Given the description of an element on the screen output the (x, y) to click on. 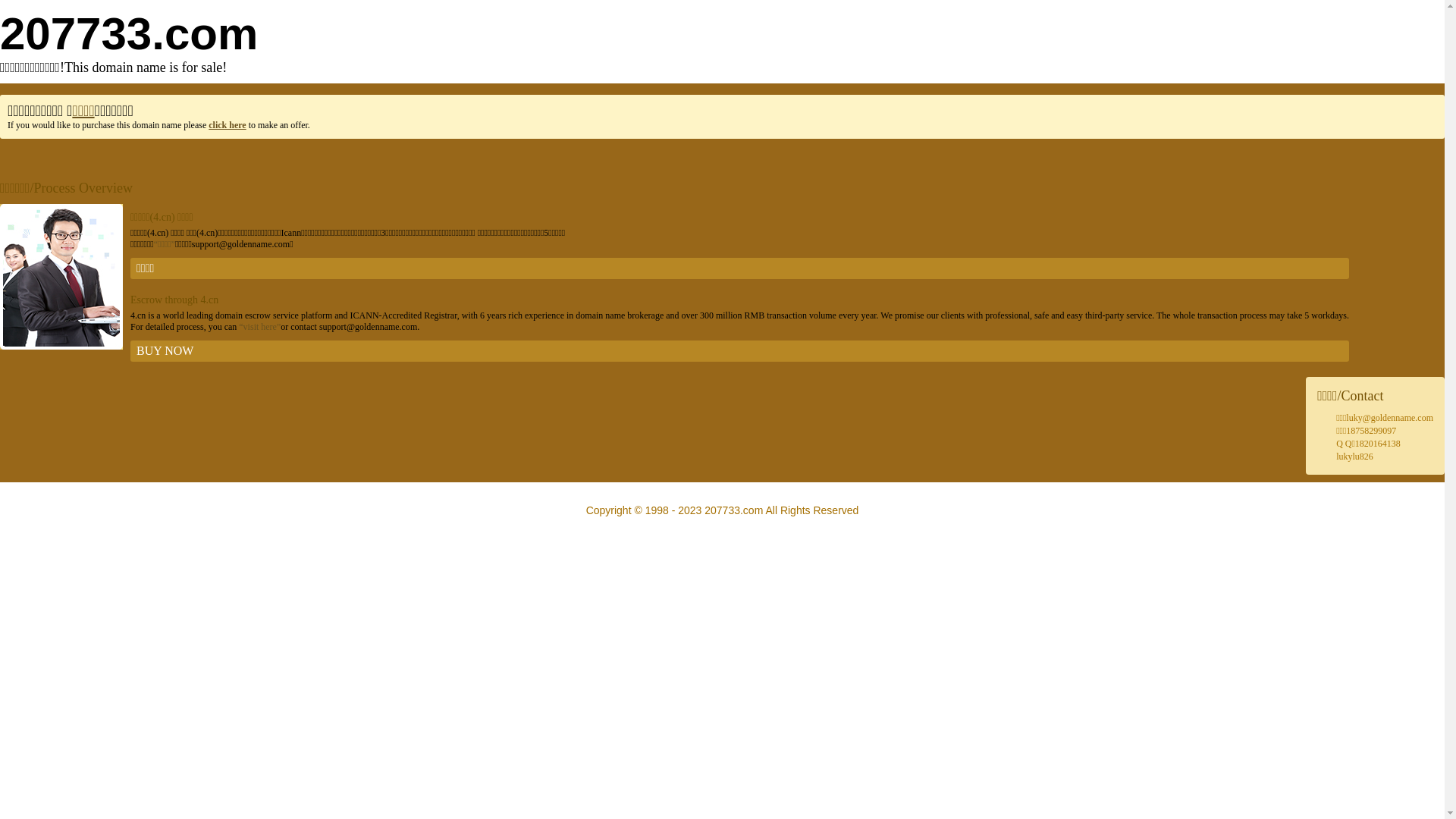
BUY NOW Element type: text (739, 350)
click here Element type: text (226, 124)
